Given the description of an element on the screen output the (x, y) to click on. 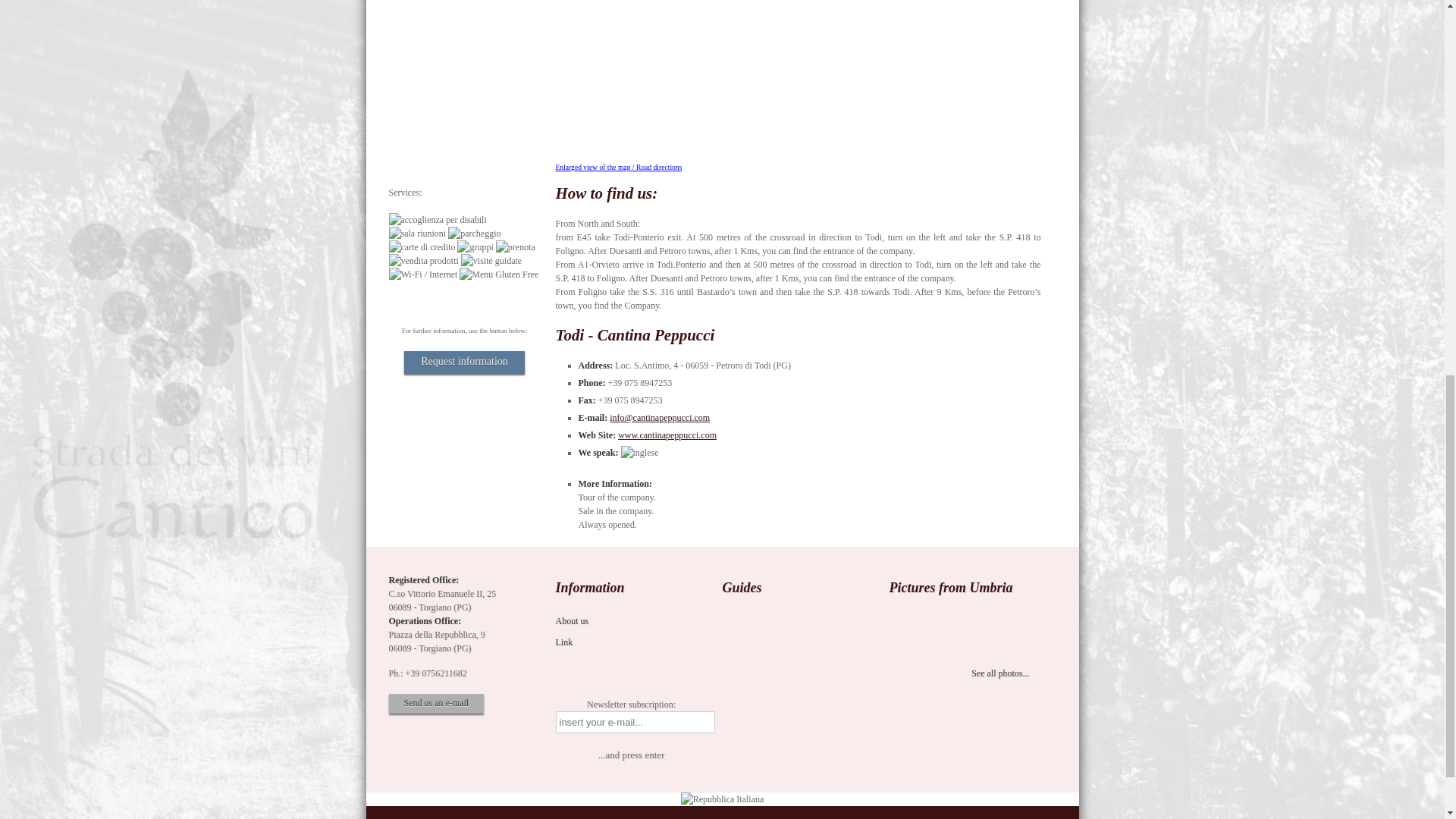
insert your e-mail... (634, 722)
menu per celiaci (499, 274)
Repubblica Italiana (722, 798)
accoglienza per disabili (437, 219)
vendita prodotti (423, 260)
visite guidate (491, 260)
accoglienza gruppi (475, 246)
connessione internet o wi-fi zone (422, 274)
parcheggio (474, 233)
si richiede prenotazione (515, 246)
carte di credito (421, 246)
inglese (640, 452)
sala riunioni (416, 233)
